Given the description of an element on the screen output the (x, y) to click on. 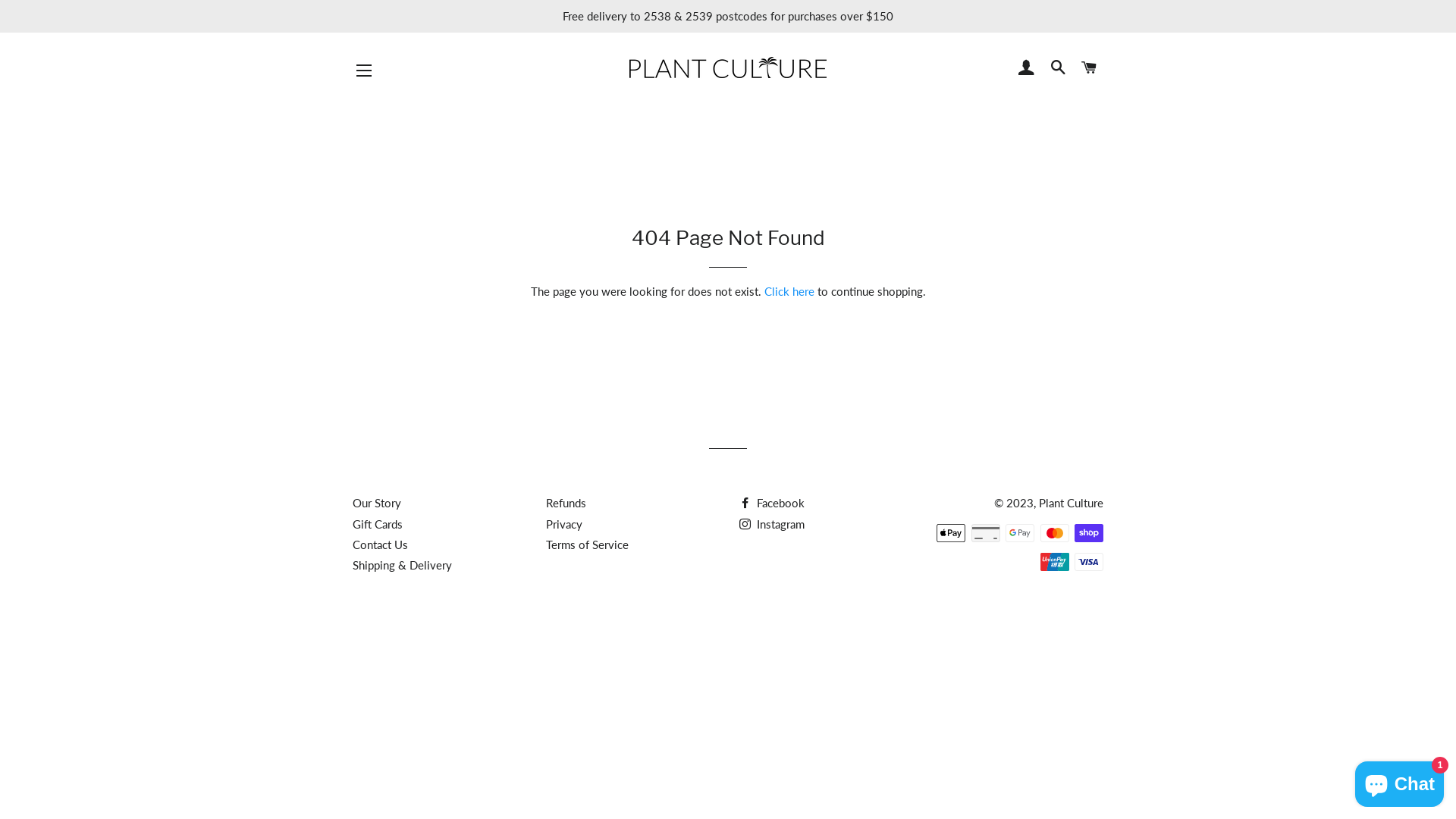
Gift Cards Element type: text (377, 523)
Terms of Service Element type: text (587, 544)
SEARCH Element type: text (1058, 67)
LOG IN Element type: text (1027, 67)
Contact Us Element type: text (379, 544)
Privacy Element type: text (564, 523)
Refunds Element type: text (566, 502)
Click here Element type: text (789, 291)
Facebook Element type: text (771, 502)
Plant Culture Element type: text (1070, 502)
SITE NAVIGATION Element type: text (363, 70)
Instagram Element type: text (771, 523)
Our Story Element type: text (376, 502)
Shipping & Delivery Element type: text (401, 564)
CART Element type: text (1089, 67)
Shopify online store chat Element type: hover (1399, 780)
